Given the description of an element on the screen output the (x, y) to click on. 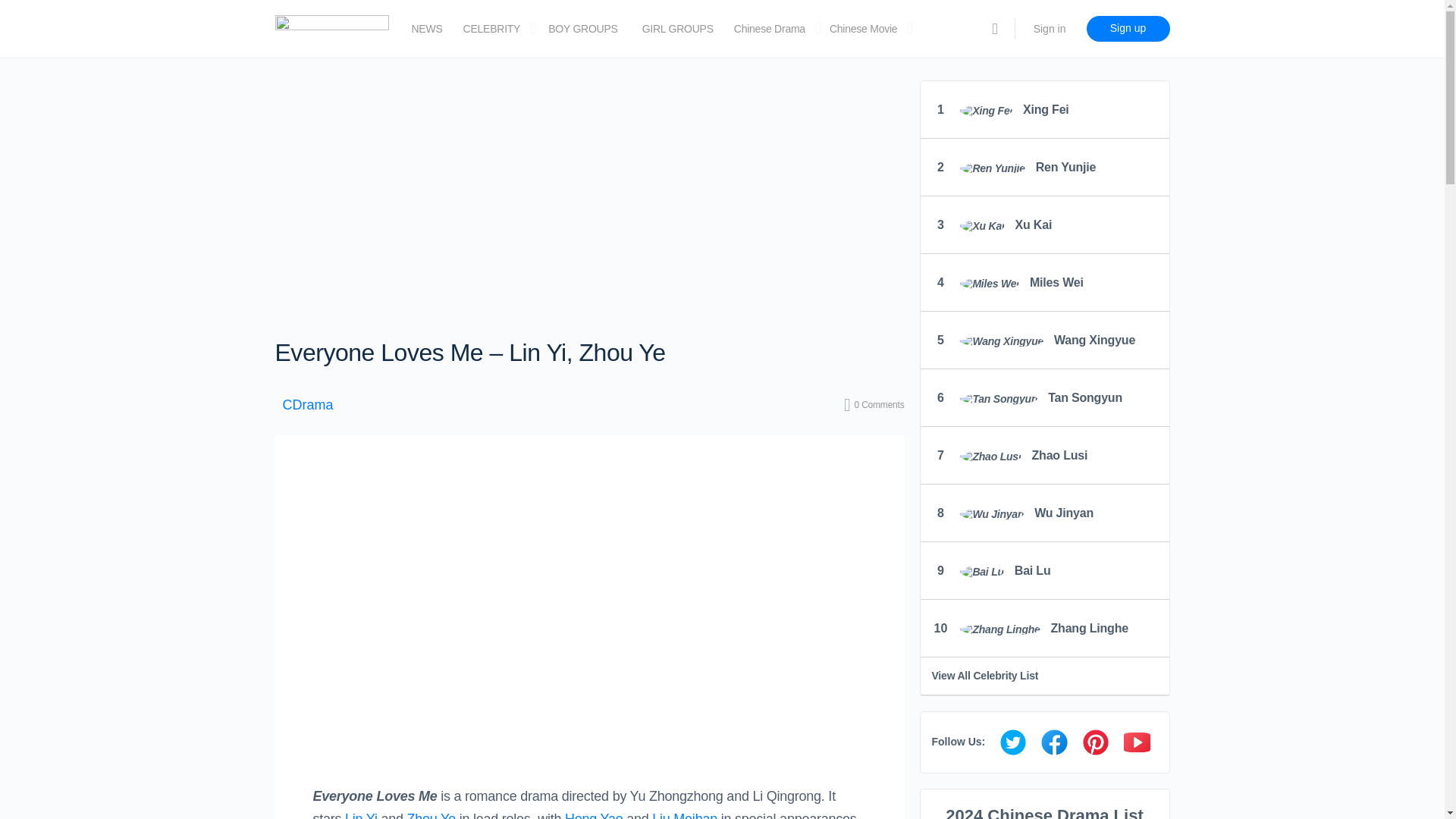
CELEBRITY (492, 28)
Chinese Drama (769, 28)
Chinese Movie (862, 28)
BOY GROUPS (582, 28)
GIRL GROUPS (677, 28)
Sign in (1050, 28)
Sign up (1127, 28)
